Given the description of an element on the screen output the (x, y) to click on. 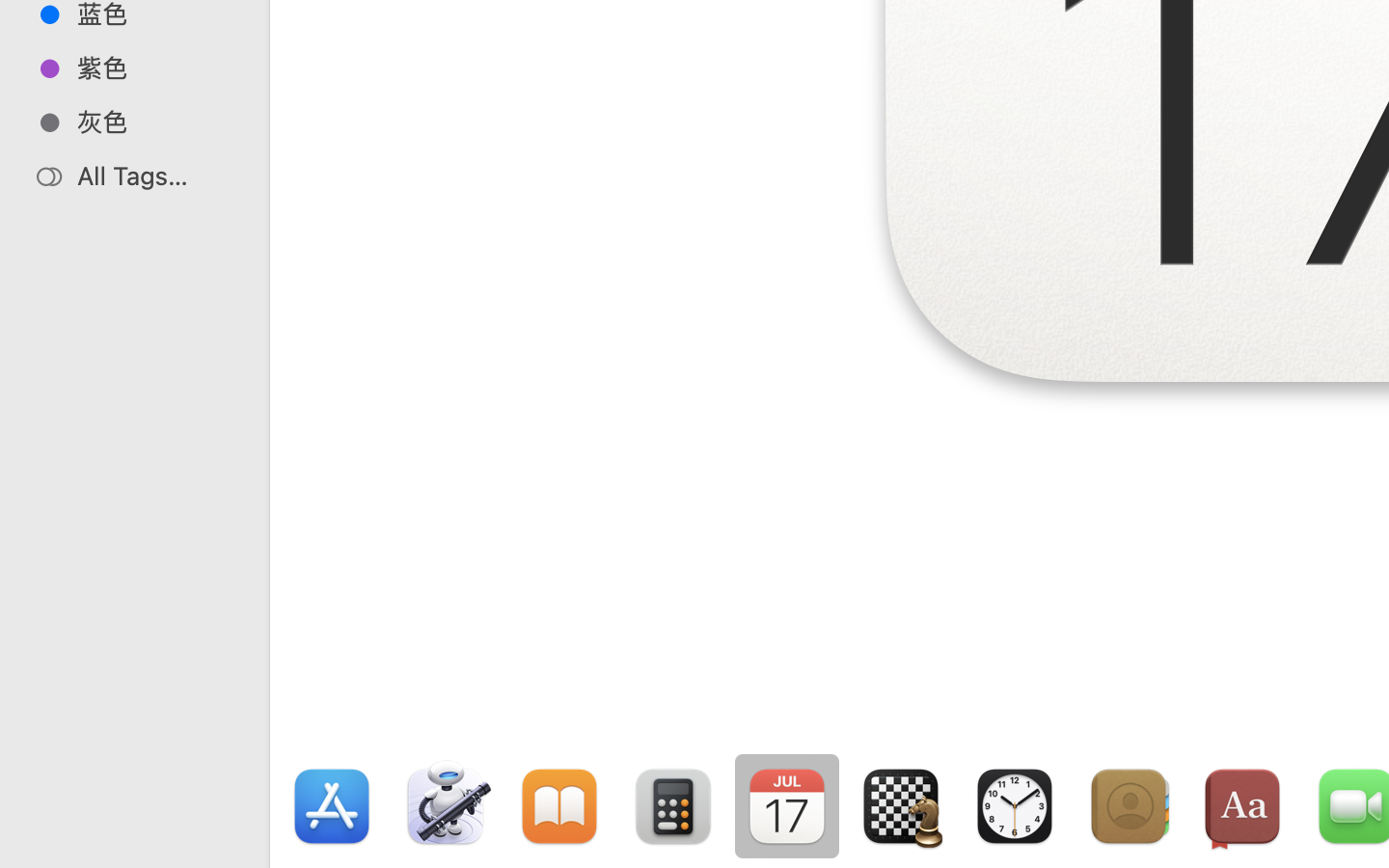
0 Element type: AXRadioButton (23, 846)
